Given the description of an element on the screen output the (x, y) to click on. 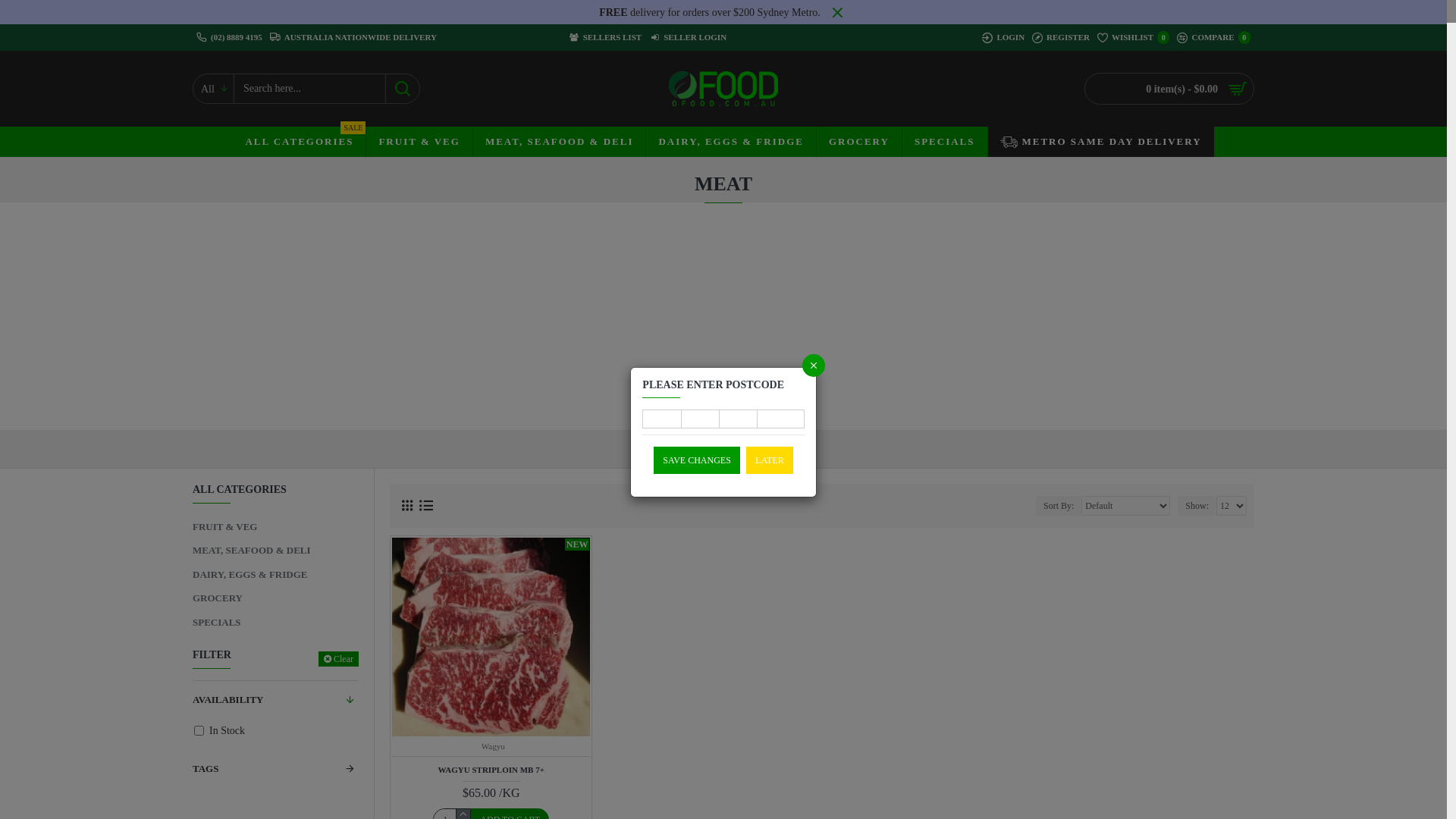
FRUIT & VEG Element type: text (275, 526)
FRUIT & VEG Element type: text (418, 141)
WISHLIST
0 Element type: text (1133, 37)
DAIRY, EGGS & FRIDGE Element type: text (275, 574)
MEAT, SEAFOOD & DELI Element type: text (717, 445)
oFood.com.au Element type: hover (723, 88)
LOGIN Element type: text (1003, 37)
Clear Element type: text (338, 658)
SAVE CHANGES Element type: text (696, 459)
LATER Element type: text (769, 459)
AUSTRALIA NATIONWIDE DELIVERY Element type: text (353, 37)
ALL CATEGORIES
SALE Element type: text (298, 141)
SELLER LOGIN Element type: text (687, 37)
METRO SAME DAY DELIVERY Element type: text (1100, 141)
AVAILABILITY Element type: text (275, 699)
(02) 8889 4195 Element type: text (229, 37)
SELLERS LIST Element type: text (605, 37)
REGISTER Element type: text (1060, 37)
DAIRY, EGGS & FRIDGE Element type: text (730, 141)
wagyu striploin MB 7+ Element type: hover (490, 636)
WAGYU STRIPLOIN MB 7+ Element type: text (491, 769)
0 item(s) - $0.00 Element type: text (1169, 88)
Advertisement Element type: hover (723, 316)
SPECIALS Element type: text (944, 141)
COMPARE
0 Element type: text (1213, 37)
GROCERY Element type: text (275, 598)
SPECIALS Element type: text (275, 622)
GROCERY Element type: text (858, 141)
TAGS Element type: text (275, 768)
Meat Element type: text (801, 445)
MEAT, SEAFOOD & DELI Element type: text (559, 141)
MEAT, SEAFOOD & DELI Element type: text (275, 550)
